Given the description of an element on the screen output the (x, y) to click on. 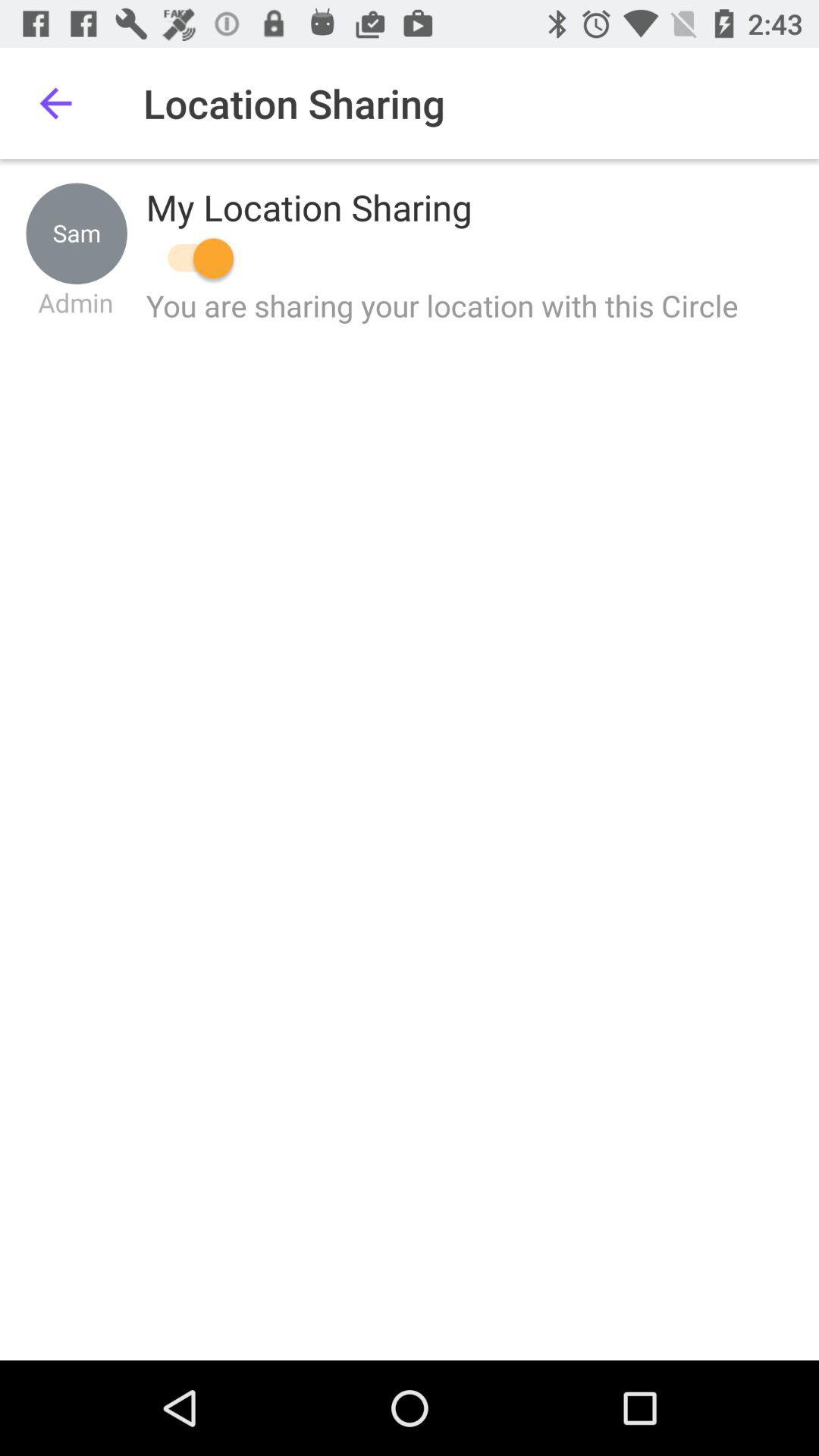
switch on location sharing (193, 258)
